Given the description of an element on the screen output the (x, y) to click on. 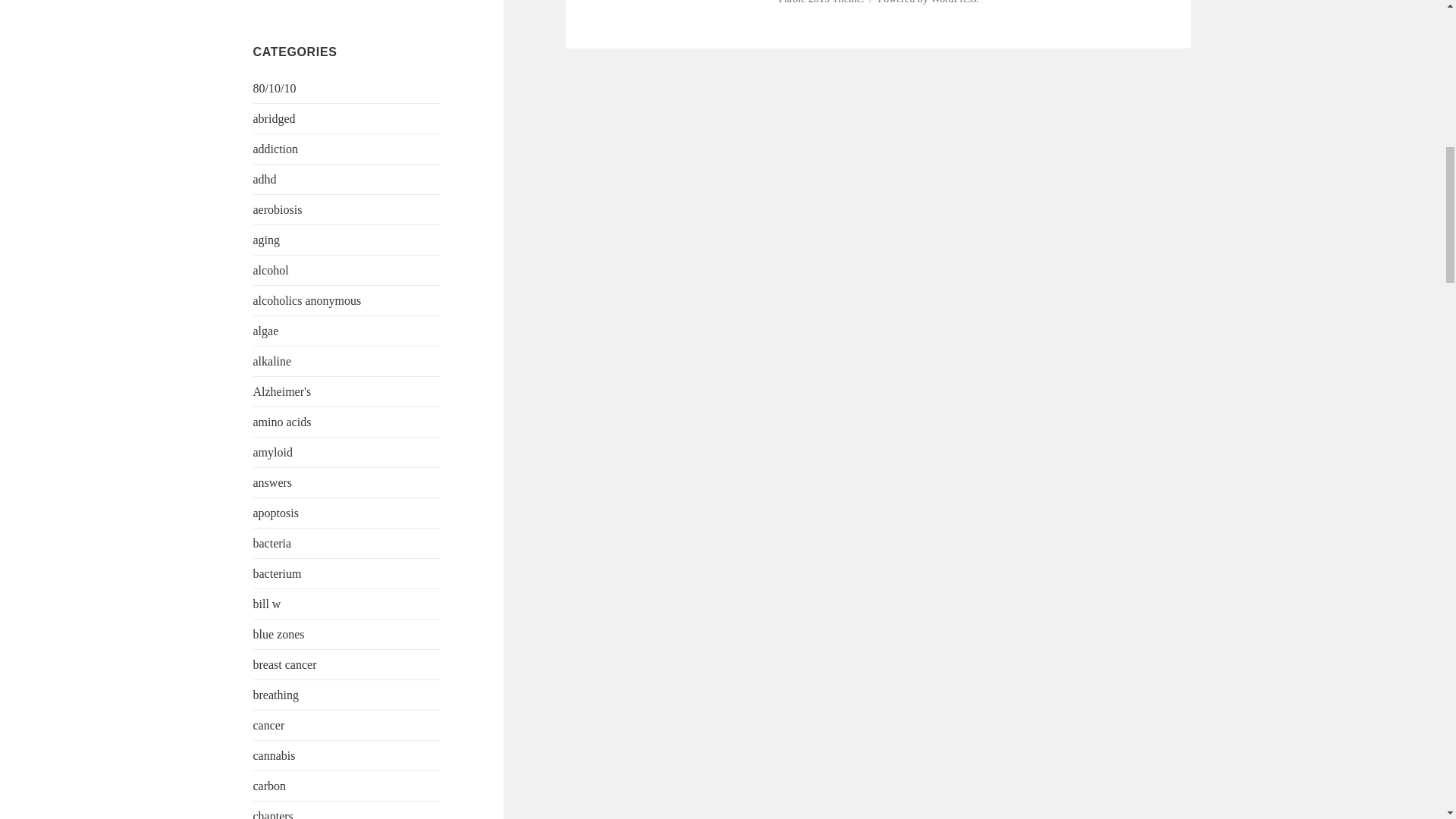
bill w (267, 603)
cannabis (274, 755)
amino acids (282, 421)
aerobiosis (277, 209)
addiction (275, 148)
alcoholics anonymous (307, 300)
chapters (273, 814)
answers (272, 481)
algae (266, 330)
adhd (264, 178)
